Given the description of an element on the screen output the (x, y) to click on. 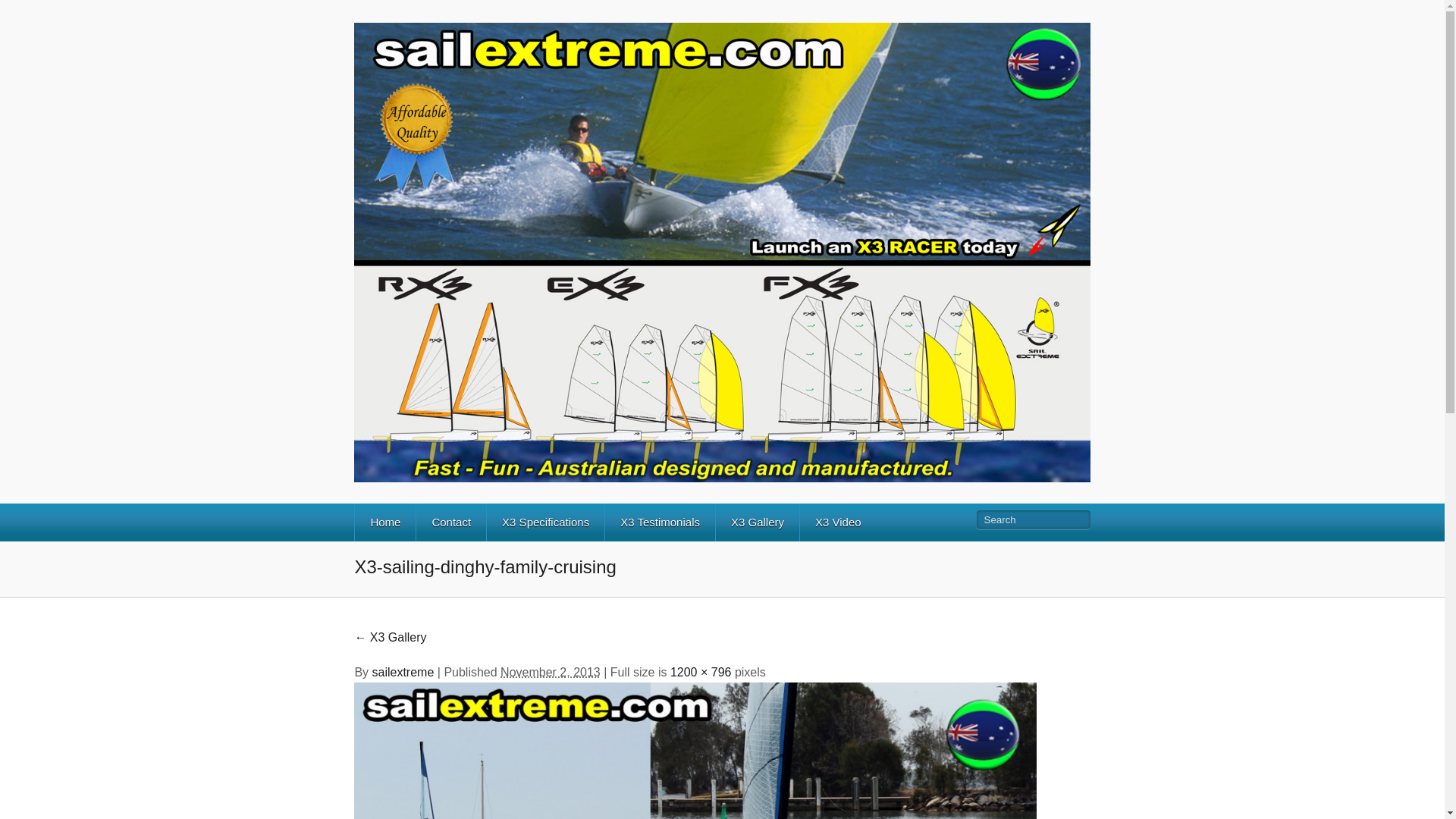
Return to X3 Gallery (389, 636)
Home (383, 522)
X3 Specifications (545, 522)
Contact (450, 522)
View all posts by sailextreme (402, 671)
Link to full-size image (700, 671)
8:59 pm (549, 671)
sailextreme (402, 671)
X3 Testimonials (659, 522)
Search (1031, 519)
X3 Gallery (756, 522)
X3 Video (837, 522)
